Given the description of an element on the screen output the (x, y) to click on. 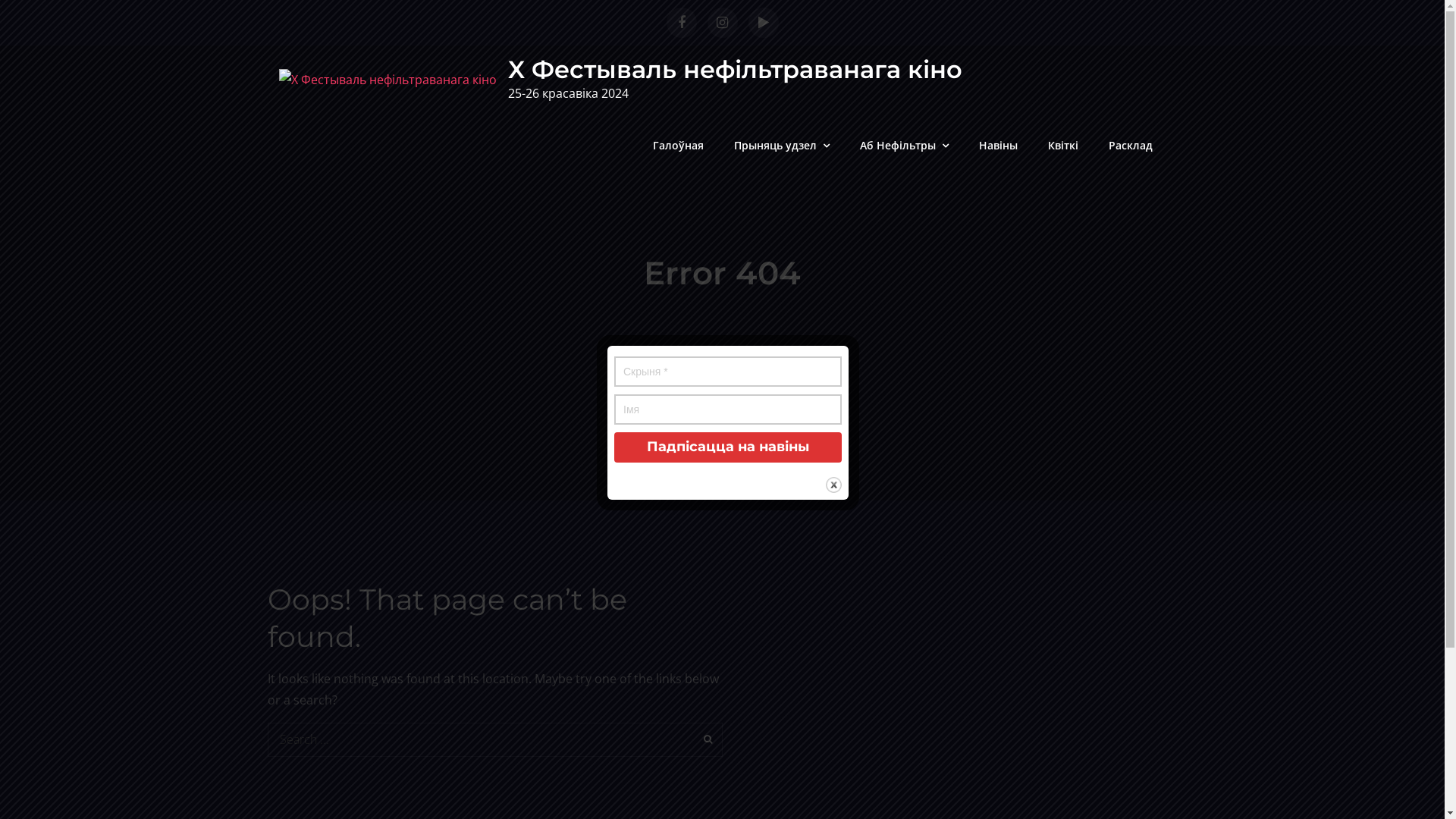
Search for: Element type: hover (493, 739)
Search Element type: text (705, 739)
Skip to content Element type: text (0, 0)
